Given the description of an element on the screen output the (x, y) to click on. 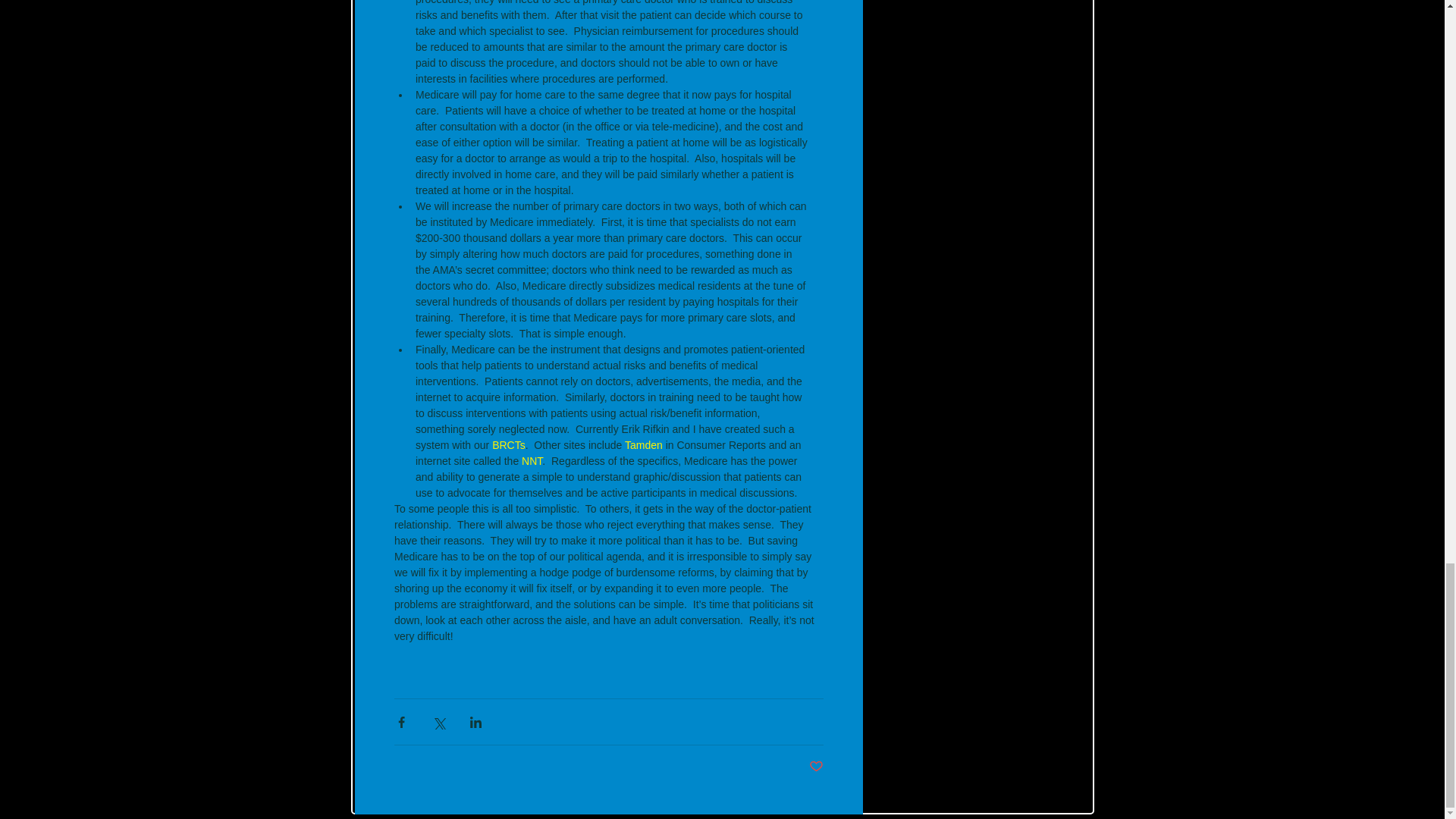
BRCTs (508, 444)
Tamden (643, 444)
NNT (531, 460)
Post not marked as liked (815, 766)
